Given the description of an element on the screen output the (x, y) to click on. 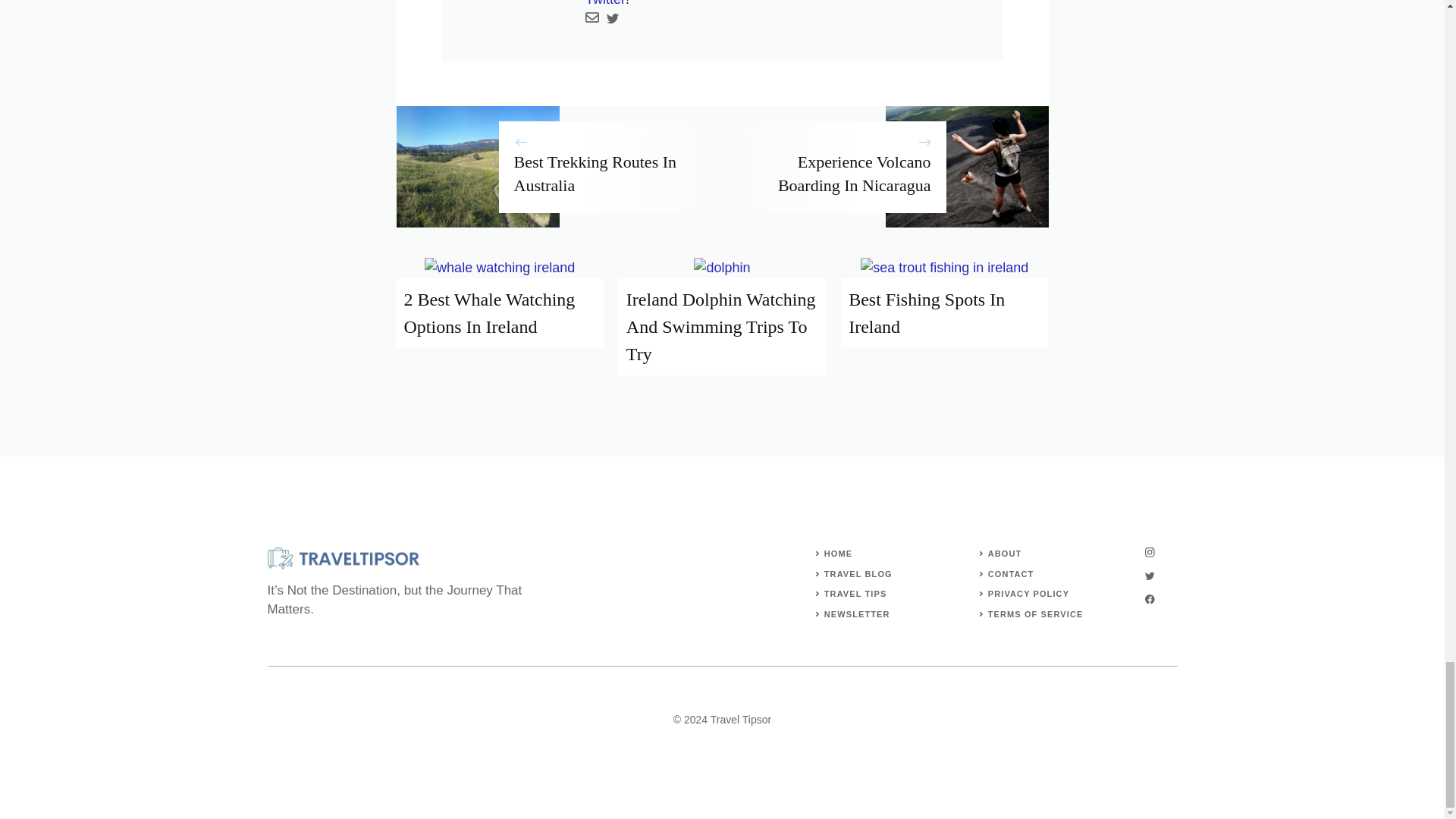
travel-tipsor-logo (342, 558)
HOME (837, 552)
TRAVEL BLOG (858, 573)
TRAVEL TIPS (855, 593)
Best Trekking Routes In Australia (595, 173)
NEWSLETTER (856, 614)
Experience Volcano Boarding In Nicaragua (854, 173)
Twitter (605, 3)
